Given the description of an element on the screen output the (x, y) to click on. 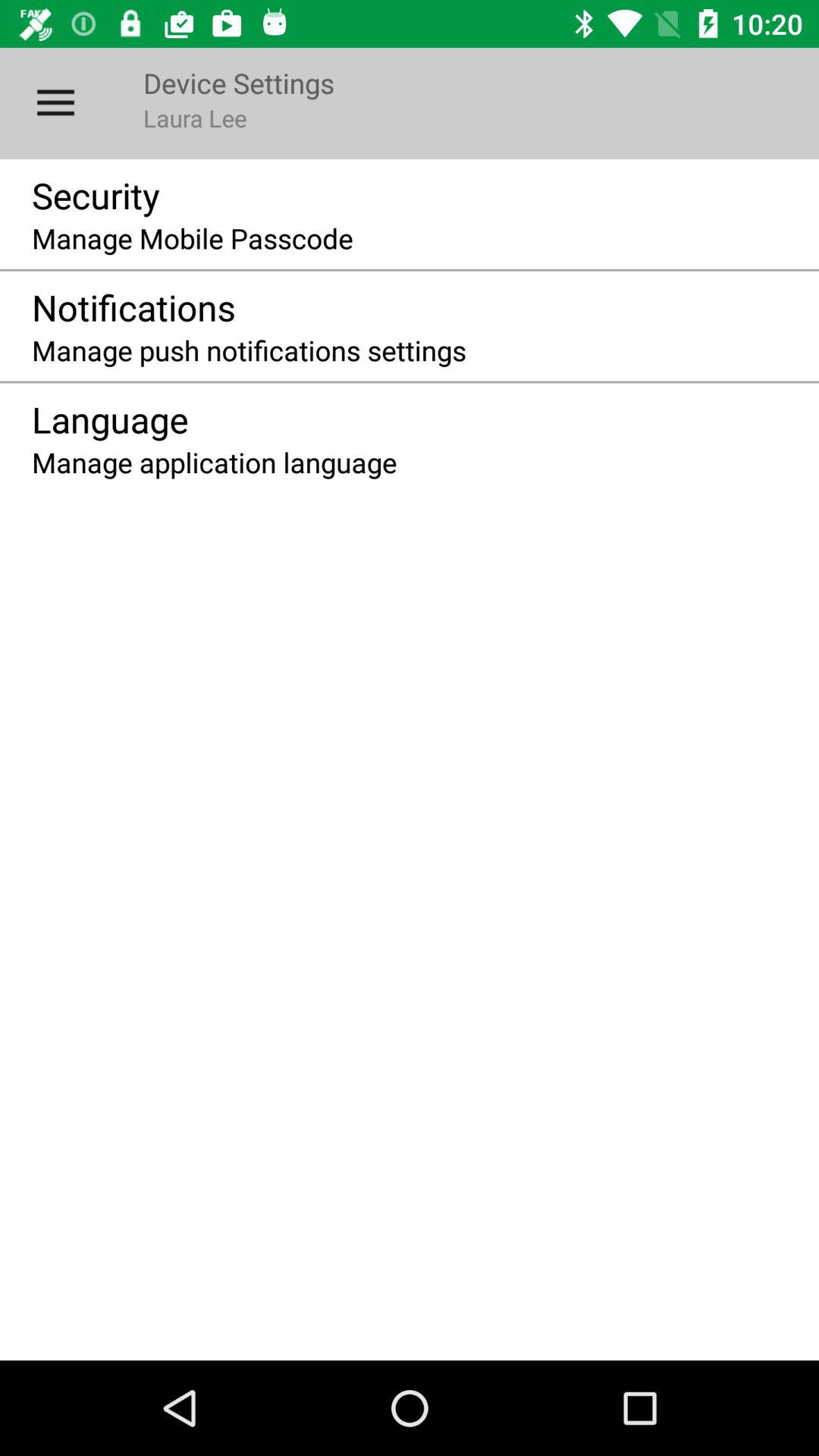
launch the icon next to device settings icon (55, 103)
